Given the description of an element on the screen output the (x, y) to click on. 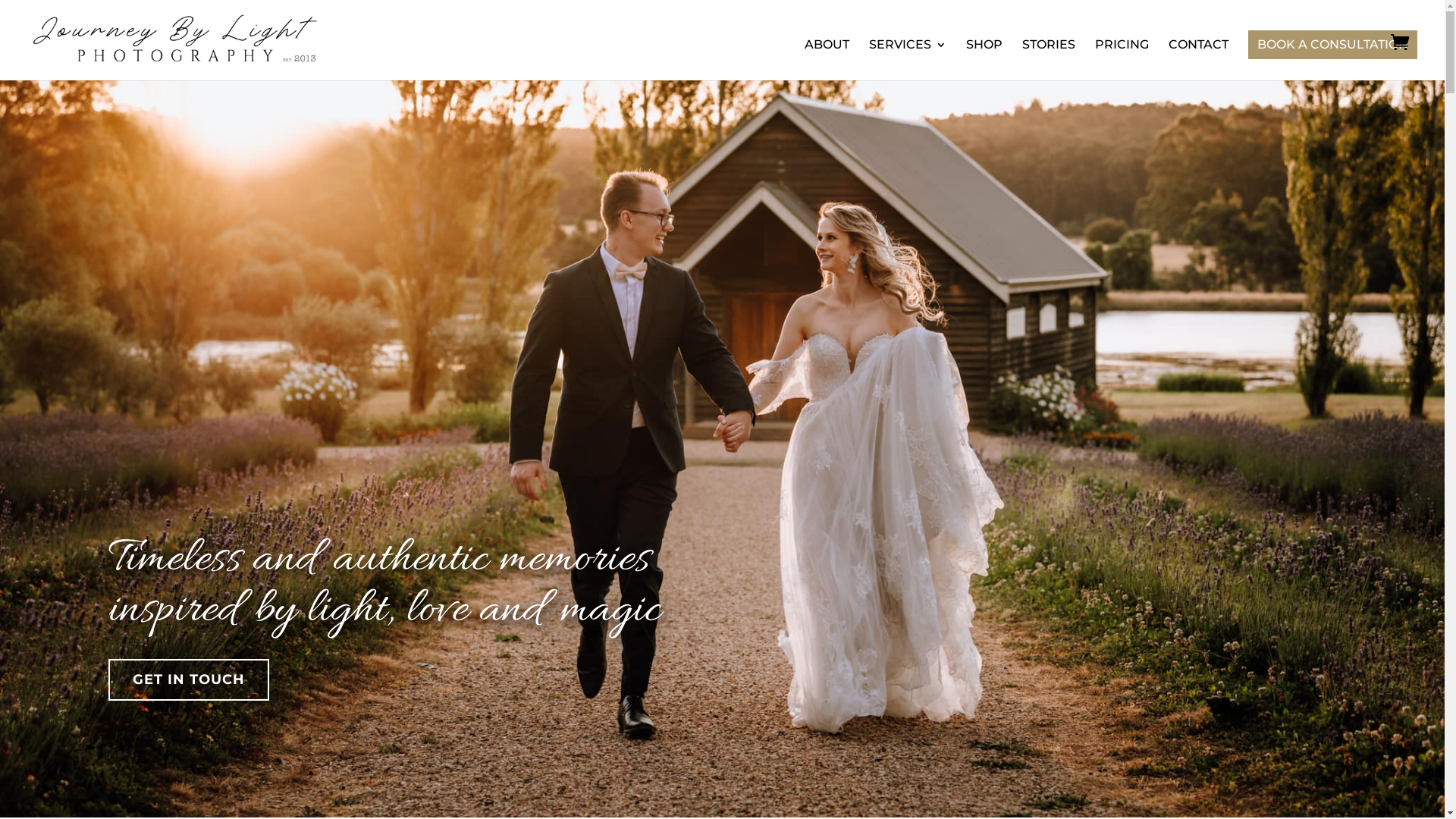
CONTACT Element type: text (1198, 59)
SERVICES Element type: text (907, 59)
GET IN TOUCH Element type: text (188, 679)
PRICING Element type: text (1121, 59)
ABOUT Element type: text (826, 59)
BOOK A CONSULTATION Element type: text (1332, 44)
STORIES Element type: text (1048, 59)
SHOP Element type: text (984, 59)
